Given the description of an element on the screen output the (x, y) to click on. 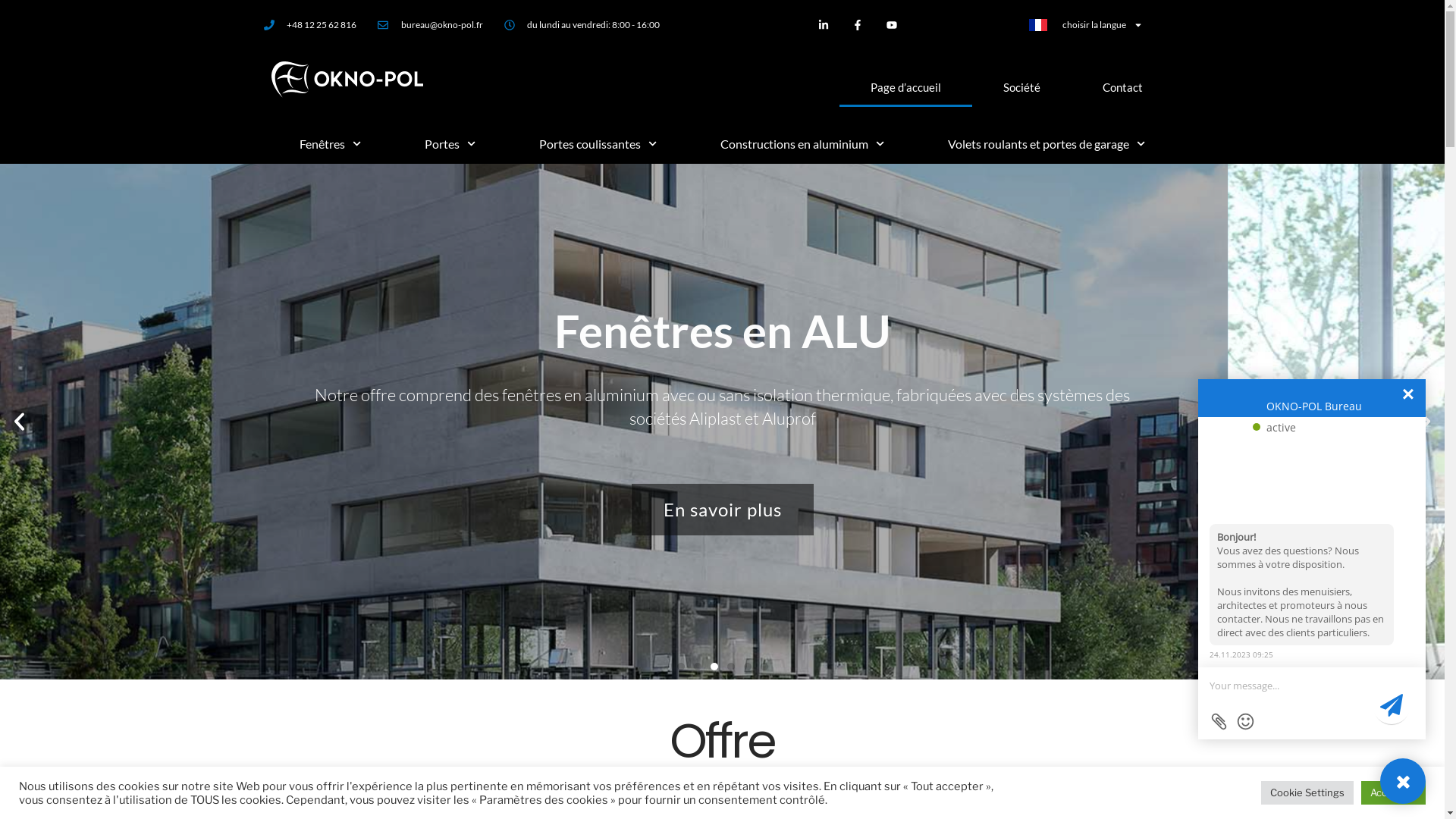
Constructions en aluminium Element type: text (802, 143)
+48 12 25 62 816 Element type: text (310, 24)
Accept All Element type: text (1393, 792)
Volets roulants et portes de garage Element type: text (1046, 143)
Contact Element type: text (1121, 86)
Portes coulissantes Element type: text (597, 143)
bureau@okno-pol.fr Element type: text (430, 24)
Cookie Settings Element type: text (1307, 792)
Portes Element type: text (449, 143)
choisir la langue Element type: text (1085, 24)
